Given the description of an element on the screen output the (x, y) to click on. 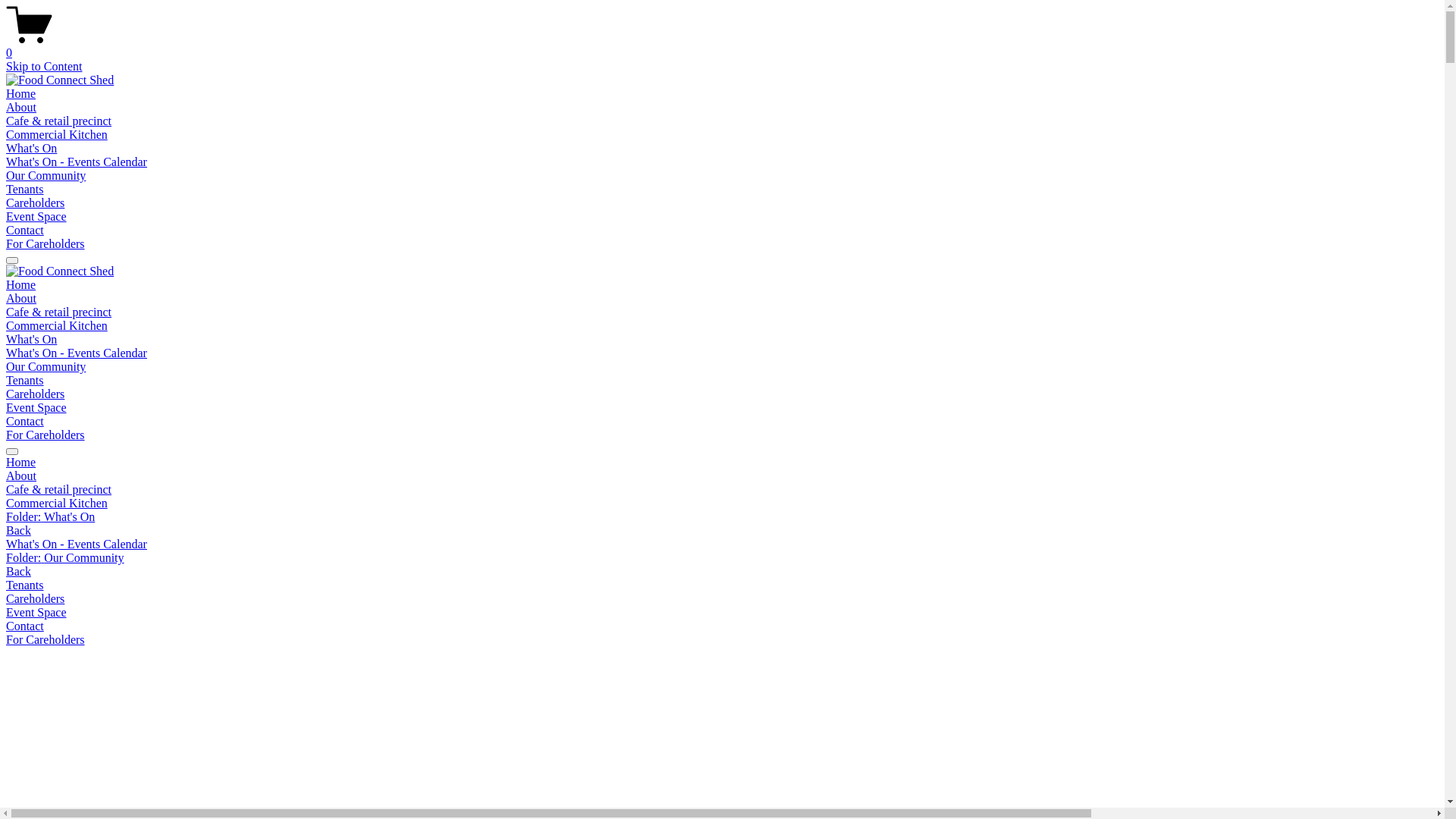
Commercial Kitchen Element type: text (722, 503)
What's On - Events Calendar Element type: text (722, 544)
Back Element type: text (18, 570)
Careholders Element type: text (35, 202)
Our Community Element type: text (45, 175)
Cafe & retail precinct Element type: text (722, 489)
For Careholders Element type: text (45, 243)
Back Element type: text (18, 530)
Event Space Element type: text (36, 407)
Our Community Element type: text (45, 366)
Tenants Element type: text (24, 188)
For Careholders Element type: text (45, 434)
Home Element type: text (722, 462)
Home Element type: text (20, 93)
Skip to Content Element type: text (43, 65)
0 Element type: text (722, 45)
What's On Element type: text (31, 338)
Event Space Element type: text (36, 216)
Careholders Element type: text (722, 598)
Contact Element type: text (24, 229)
Tenants Element type: text (722, 585)
Folder: What's On Element type: text (722, 517)
About Element type: text (21, 297)
Folder: Our Community Element type: text (722, 557)
Tenants Element type: text (24, 379)
Cafe & retail precinct Element type: text (58, 311)
For Careholders Element type: text (722, 639)
About Element type: text (21, 106)
Contact Element type: text (722, 626)
Home Element type: text (20, 284)
Commercial Kitchen Element type: text (56, 325)
Event Space Element type: text (722, 612)
Cafe & retail precinct Element type: text (58, 120)
Contact Element type: text (24, 420)
Careholders Element type: text (35, 393)
What's On Element type: text (31, 147)
What's On - Events Calendar Element type: text (76, 161)
About Element type: text (722, 476)
Commercial Kitchen Element type: text (56, 134)
What's On - Events Calendar Element type: text (76, 352)
